Given the description of an element on the screen output the (x, y) to click on. 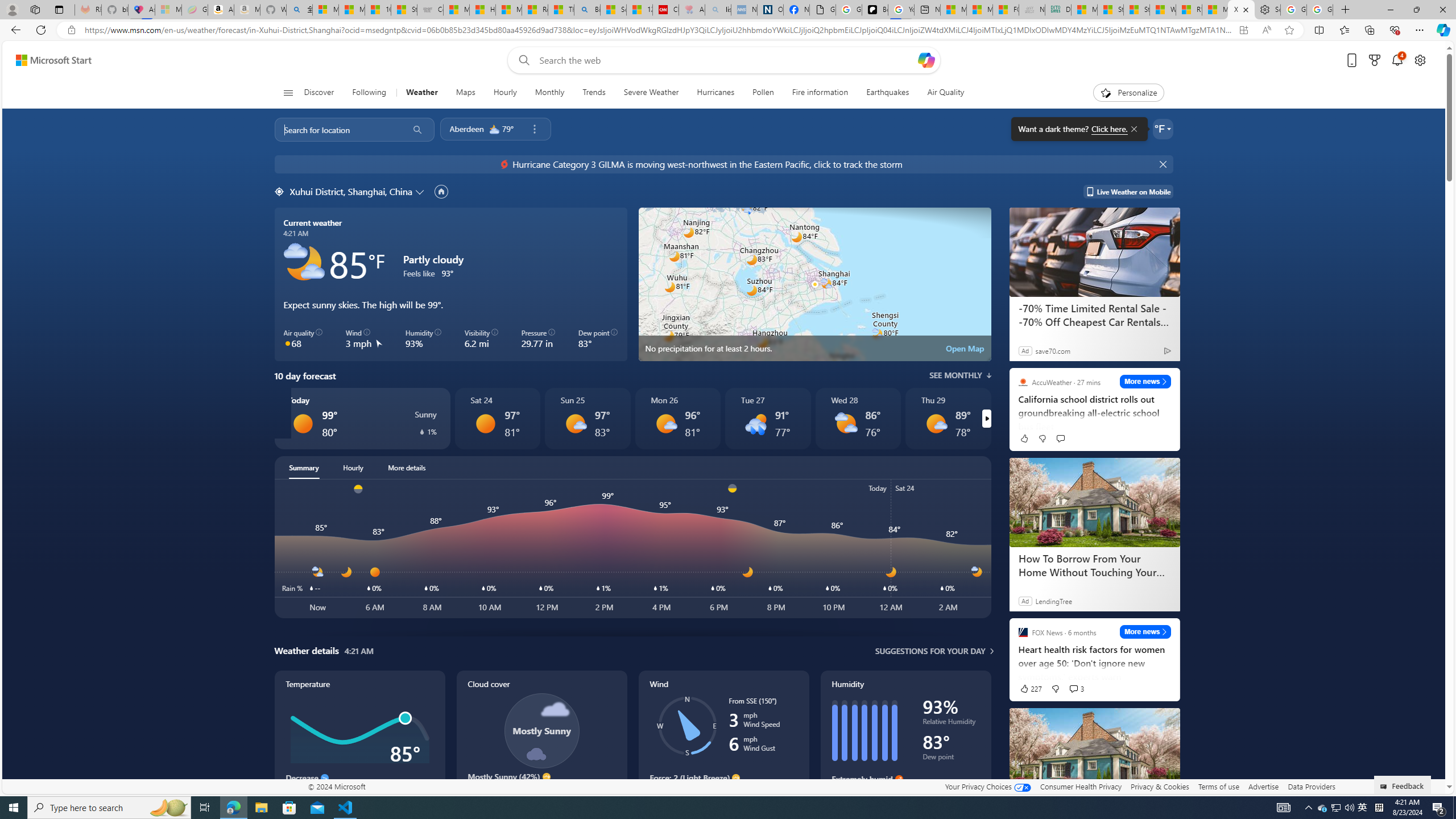
12 Popular Science Lies that Must be Corrected (639, 9)
Current (37, 256)
Privacy & Cookies (1160, 786)
Weather settings (1162, 128)
Pollen (763, 92)
Your Privacy Choices (987, 785)
Earthquakes (887, 92)
Dew point (951, 759)
Rain showers (755, 422)
